Given the description of an element on the screen output the (x, y) to click on. 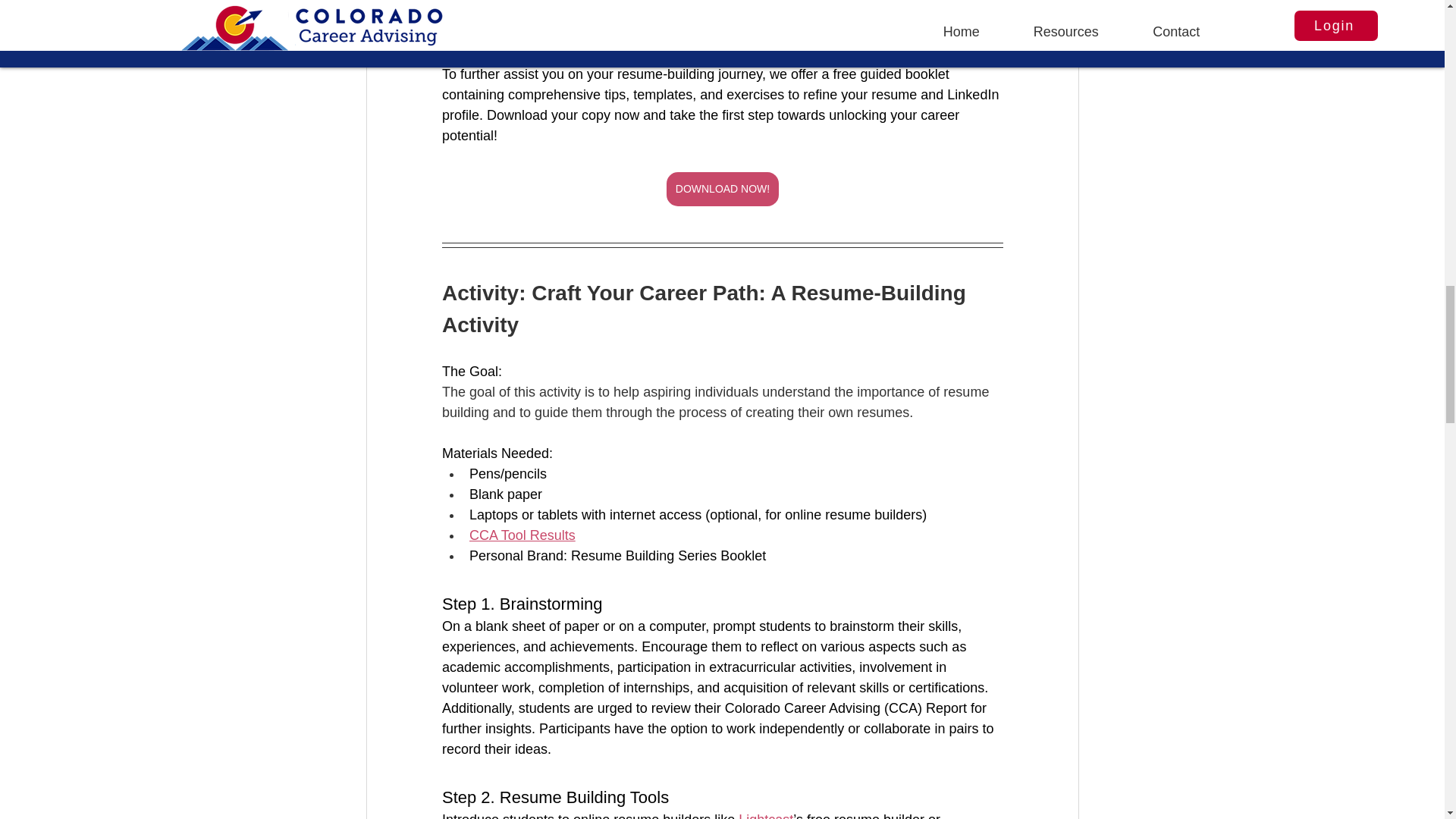
READ MORE (721, 6)
Lightcast (765, 815)
DOWNLOAD NOW! (721, 188)
CCA Tool Results (521, 534)
